Given the description of an element on the screen output the (x, y) to click on. 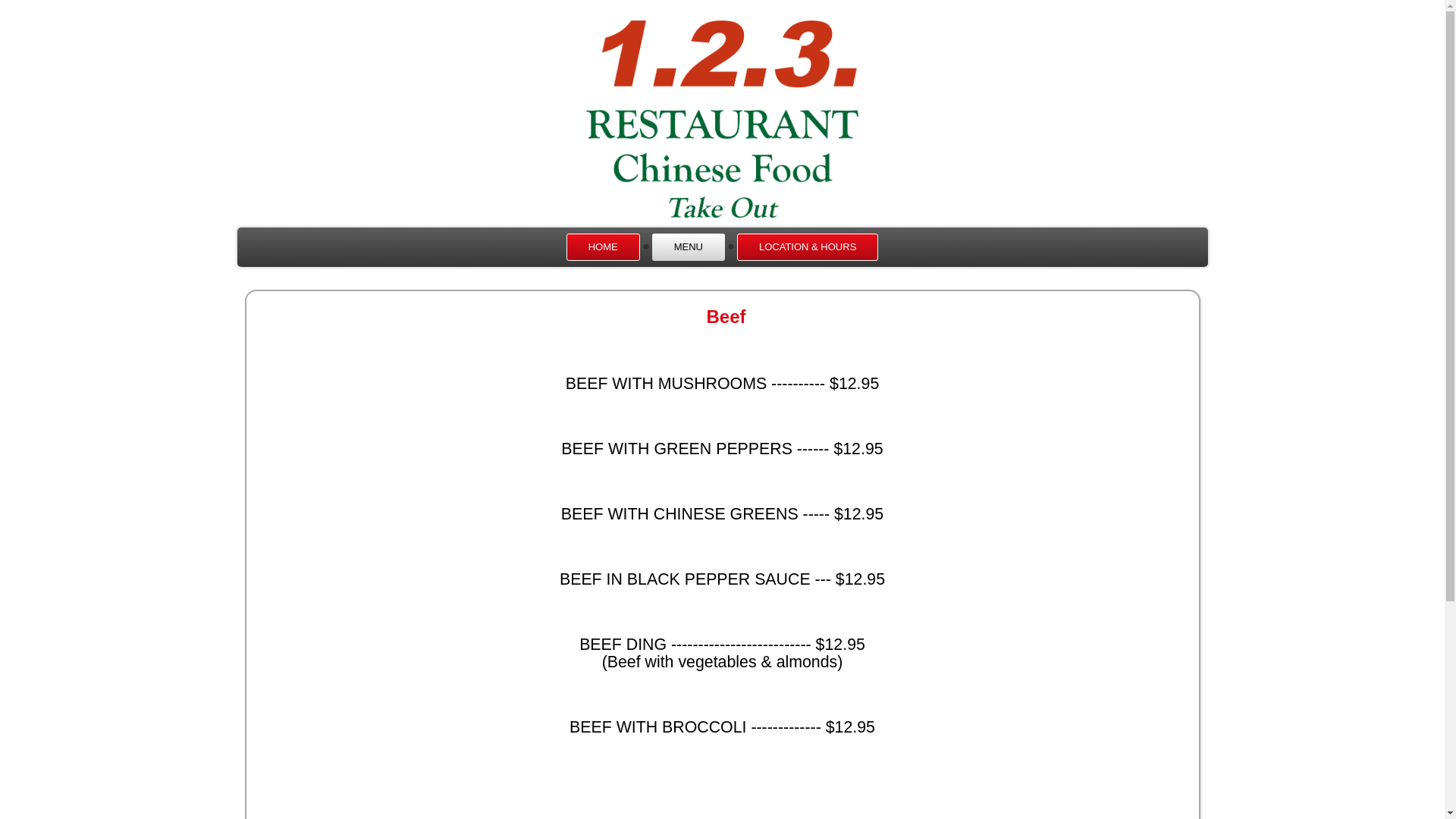
LOCATION & HOURS Element type: text (807, 246)
MENU Element type: text (688, 246)
Beef Element type: text (725, 316)
HOME Element type: text (603, 246)
